Given the description of an element on the screen output the (x, y) to click on. 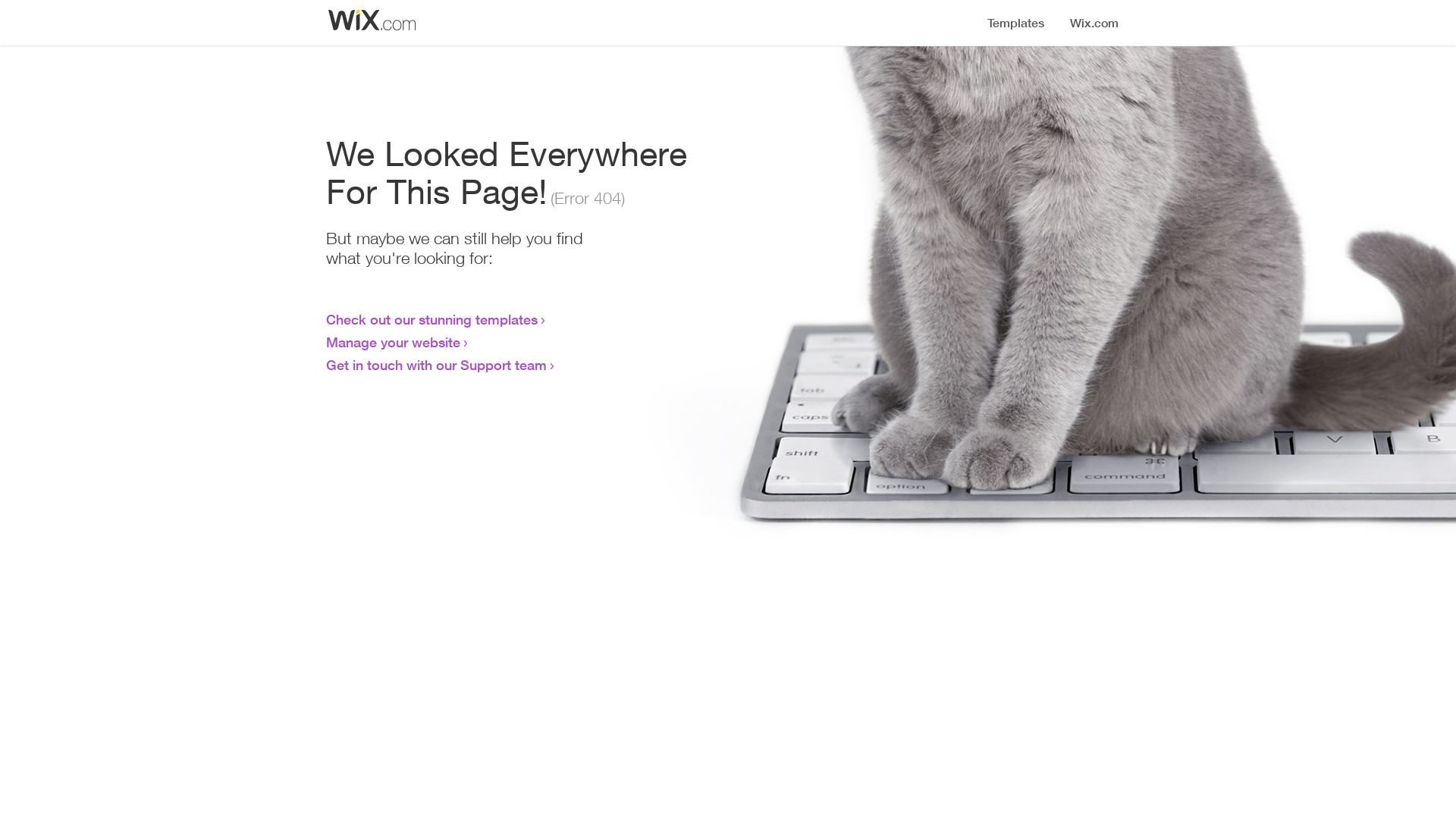
Manage your website Element type: text (393, 341)
Check out our stunning templates Element type: text (431, 318)
Get in touch with our Support team Element type: text (436, 364)
